Given the description of an element on the screen output the (x, y) to click on. 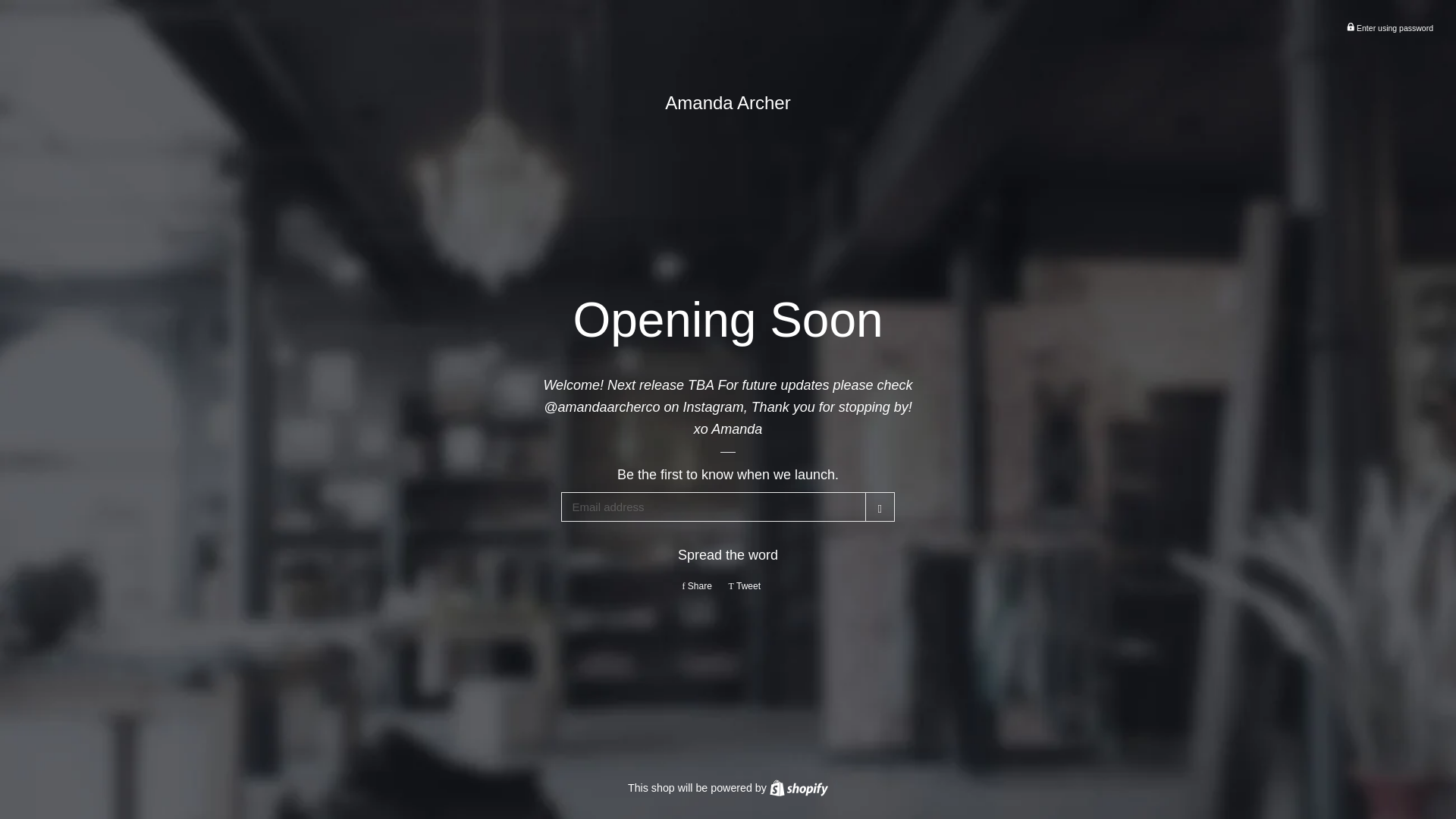
Submit (879, 506)
Lock icon (1350, 26)
Create your own online store with Shopify (700, 585)
Lock icon Enter using password (799, 787)
Shopify logo (799, 787)
